Given the description of an element on the screen output the (x, y) to click on. 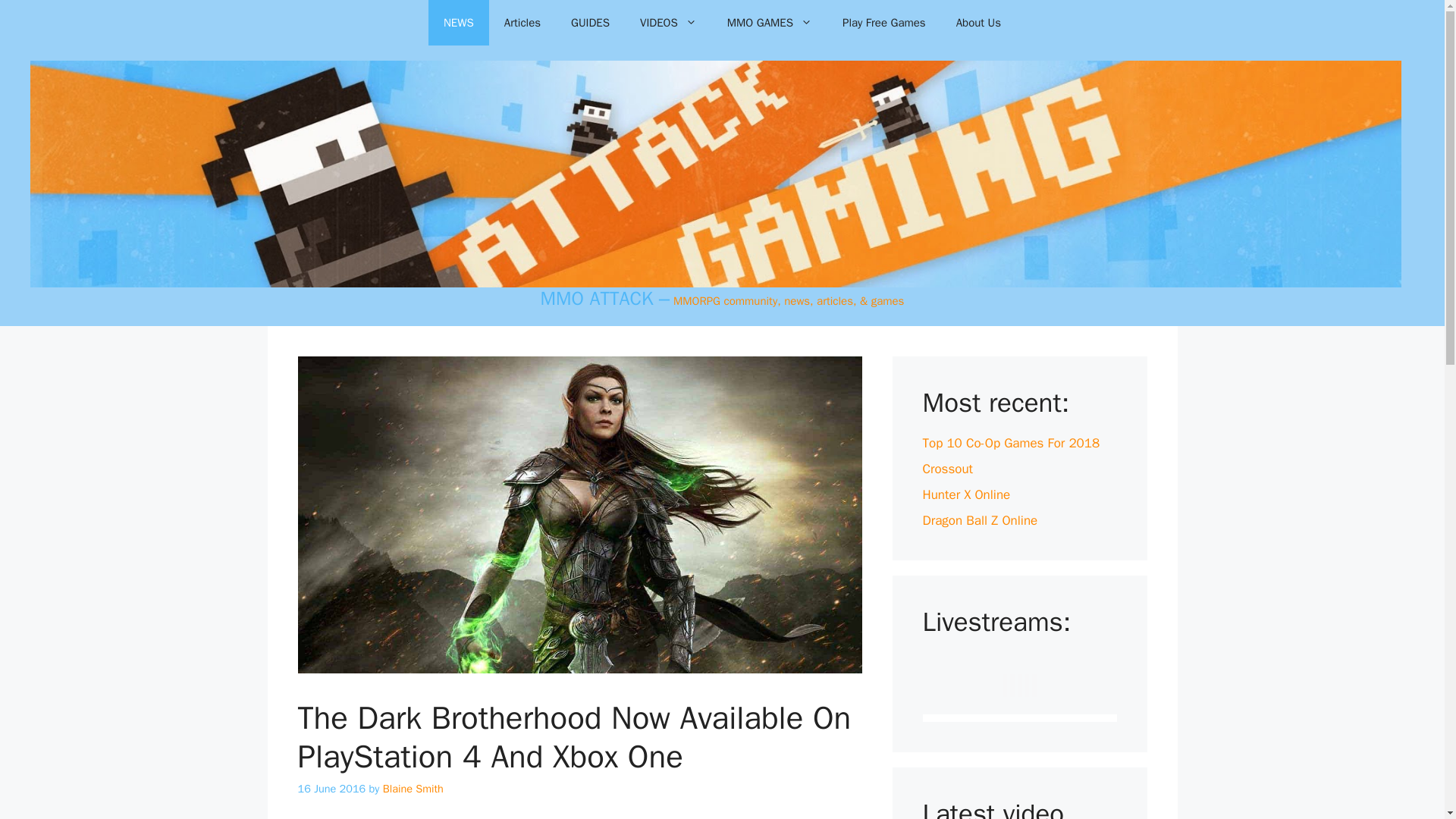
View all posts by Blaine Smith (413, 788)
MMO GAMES (769, 22)
NEWS (458, 22)
VIDEOS (667, 22)
GUIDES (590, 22)
Articles (522, 22)
